Given the description of an element on the screen output the (x, y) to click on. 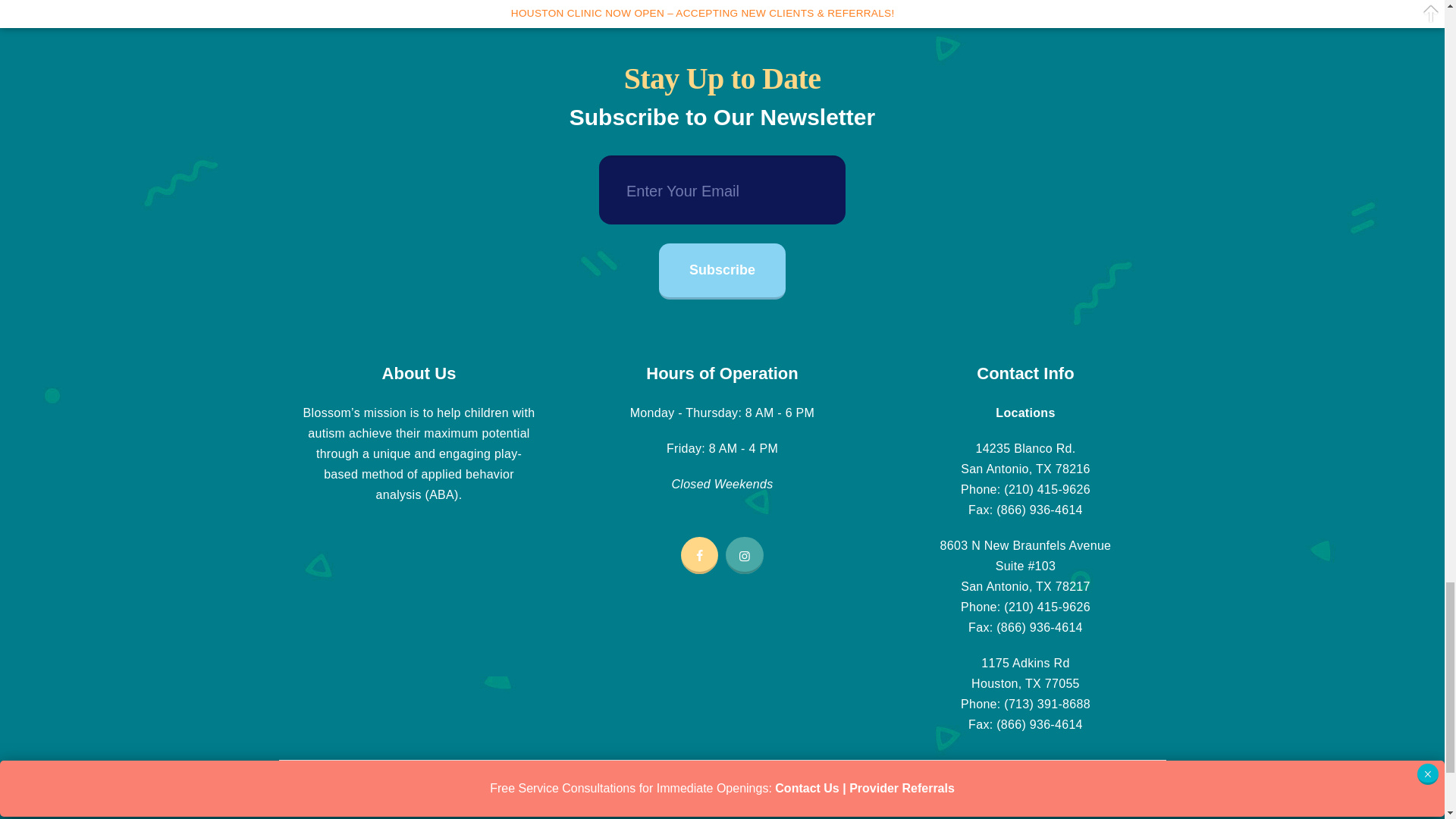
Subscribe (721, 271)
